Given the description of an element on the screen output the (x, y) to click on. 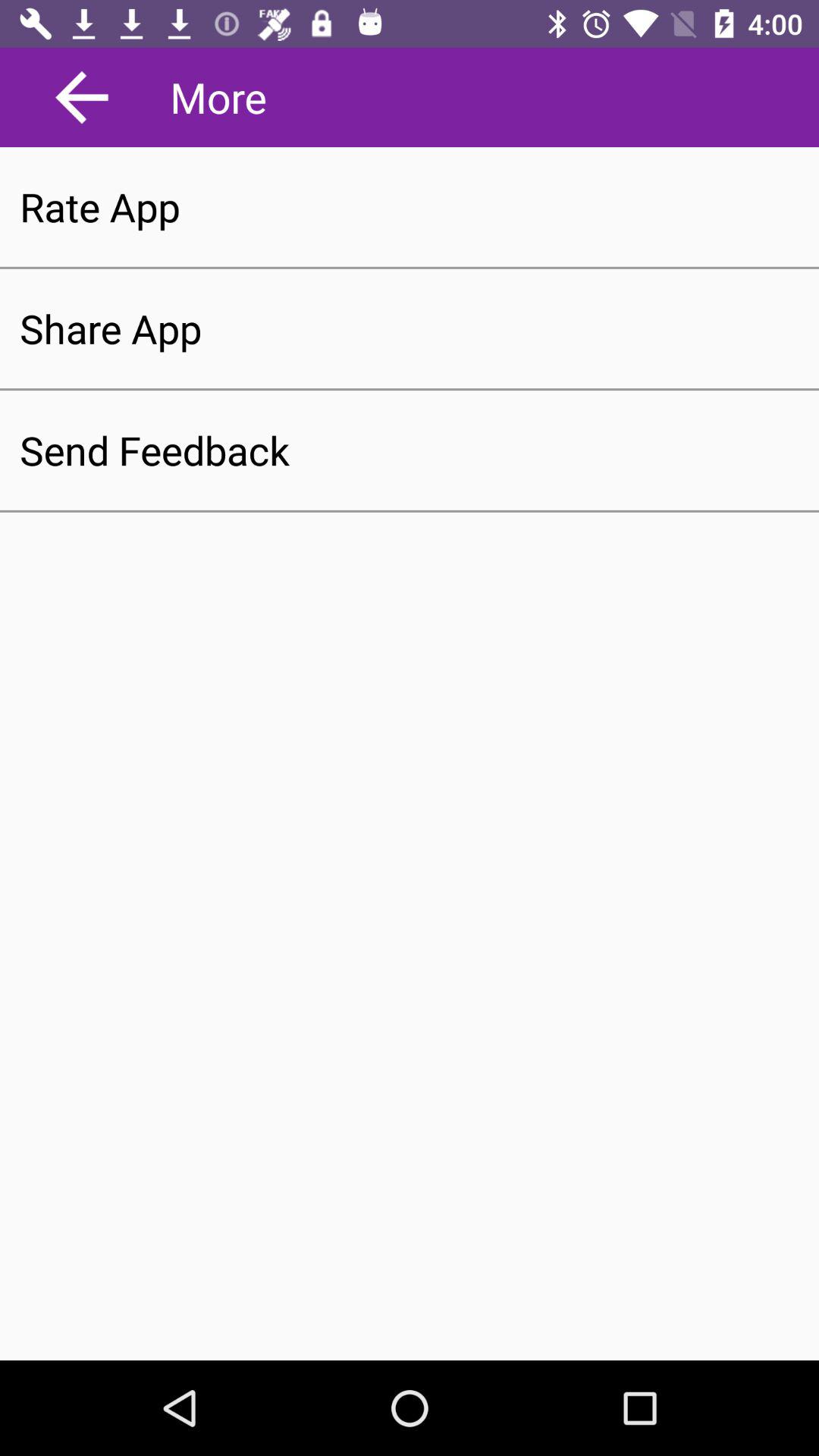
click the item at the top left corner (81, 97)
